Given the description of an element on the screen output the (x, y) to click on. 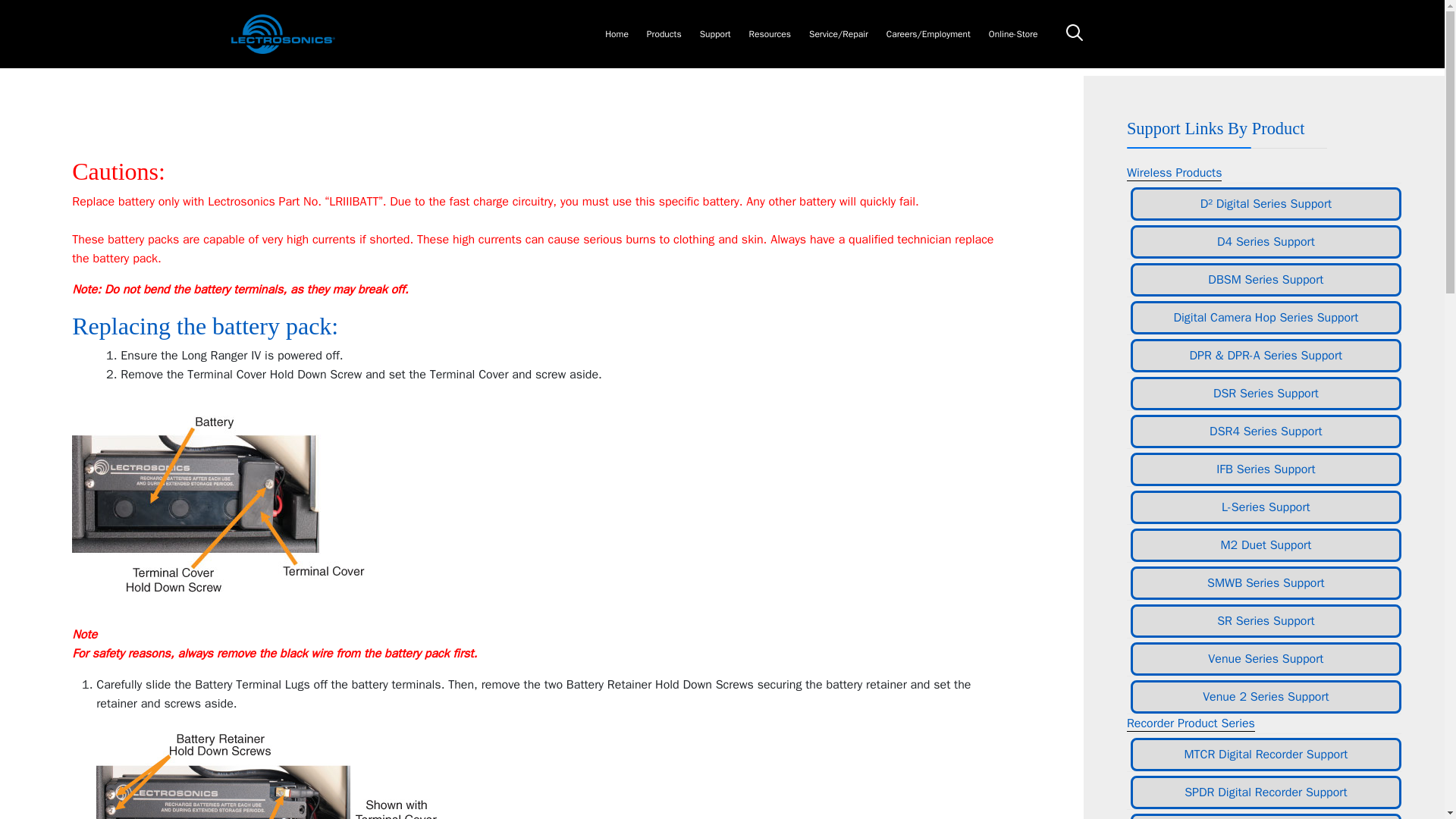
MTCR Digital Recorder Support (1265, 754)
PDR Digital Recorder Support (1265, 816)
SMWB Series Support (1265, 582)
SPDR Digital Recorder Support (1265, 792)
DSR Series Support (1265, 393)
Digital Camera Hop Series Support (1265, 317)
D4 Series Support (1265, 241)
DBSM Series Support (1265, 279)
Venue Series Support (1265, 658)
M2 Duet Support (1265, 544)
Search (1074, 32)
SR Series Support (1265, 621)
Venue 2 Series Support (1265, 696)
L-Series Support (1265, 507)
IFB Series Support (1265, 469)
